Given the description of an element on the screen output the (x, y) to click on. 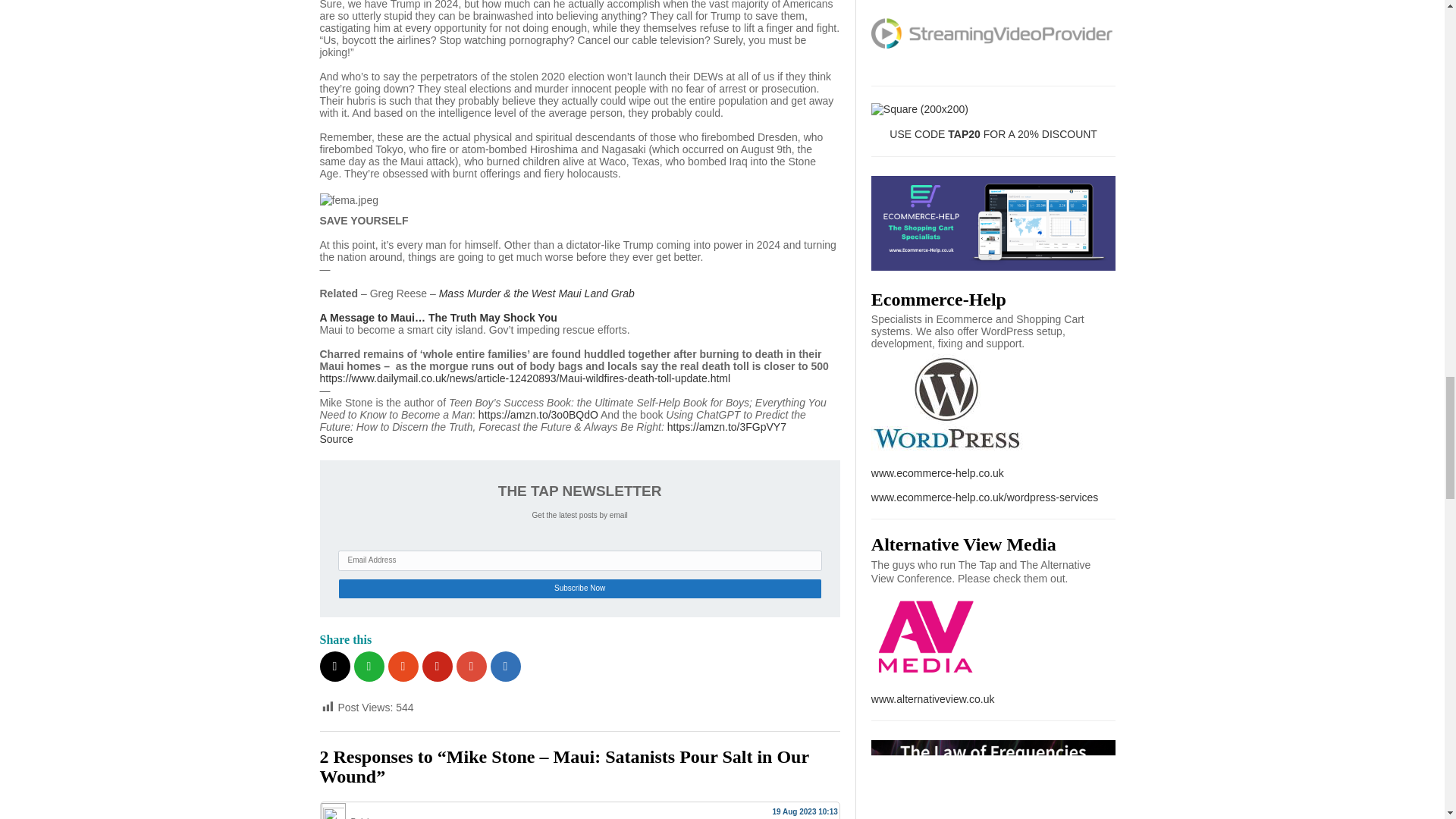
Source (336, 439)
Subscribe Now (579, 588)
19 Aug 2023 10:13 (804, 811)
Subscribe Now (579, 588)
